Given the description of an element on the screen output the (x, y) to click on. 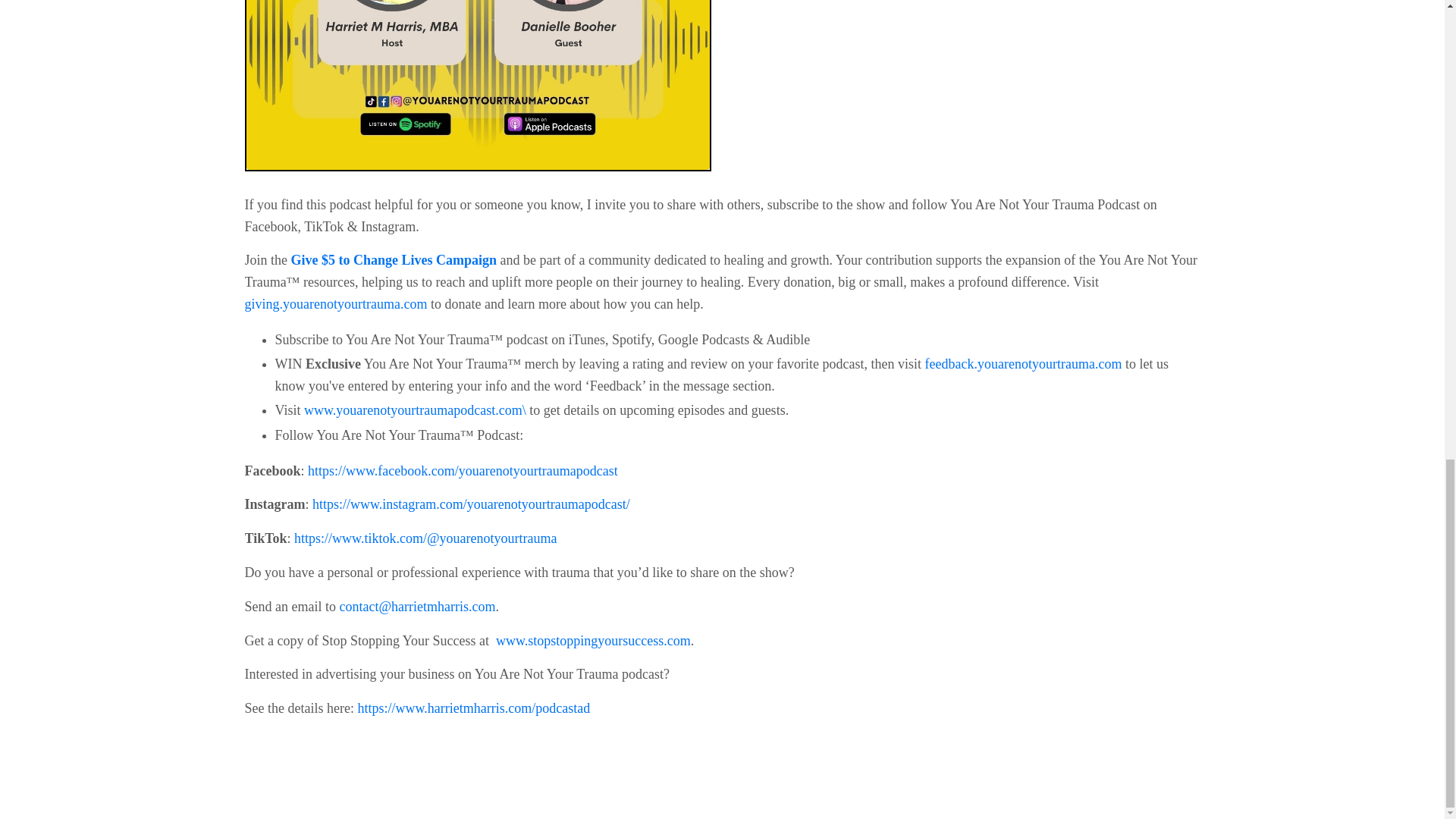
www.stopstoppingyoursuccess.com (593, 640)
giving.youarenotyourtrauma.com (335, 304)
feedback.youarenotyourtrauma.com (1023, 363)
